Given the description of an element on the screen output the (x, y) to click on. 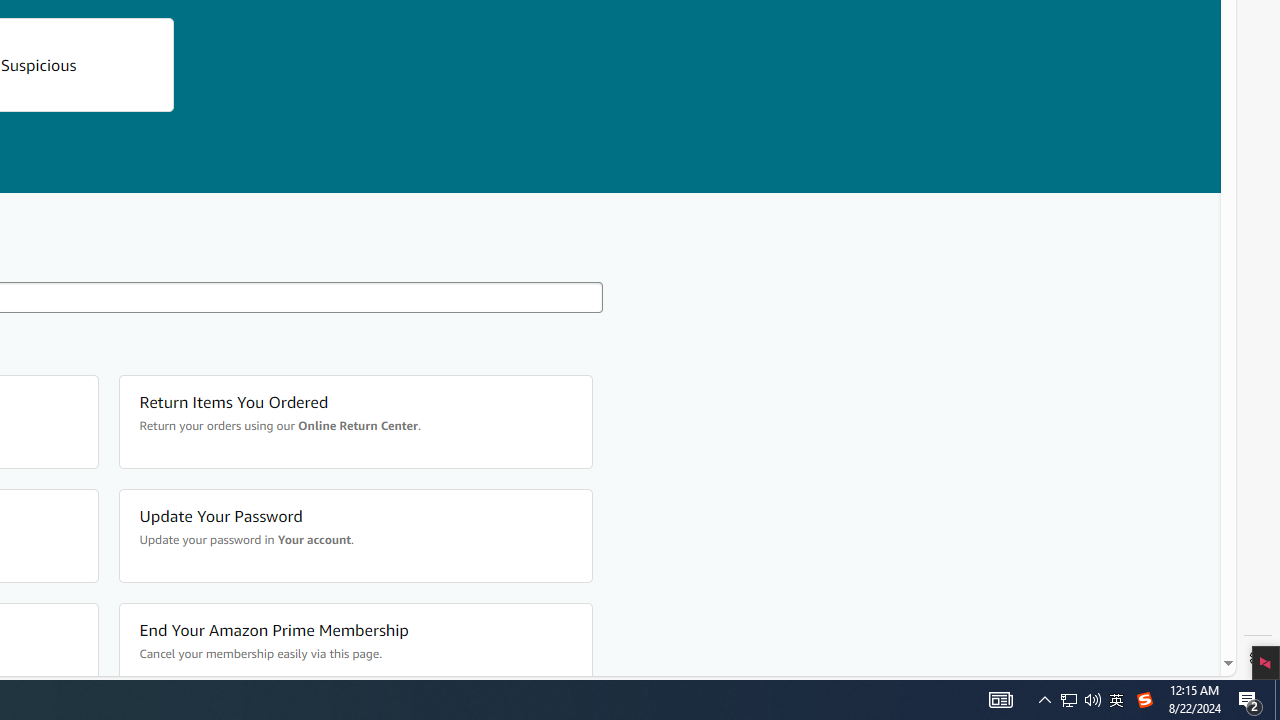
Update Your Password Update your password in Your account. (354, 535)
